Given the description of an element on the screen output the (x, y) to click on. 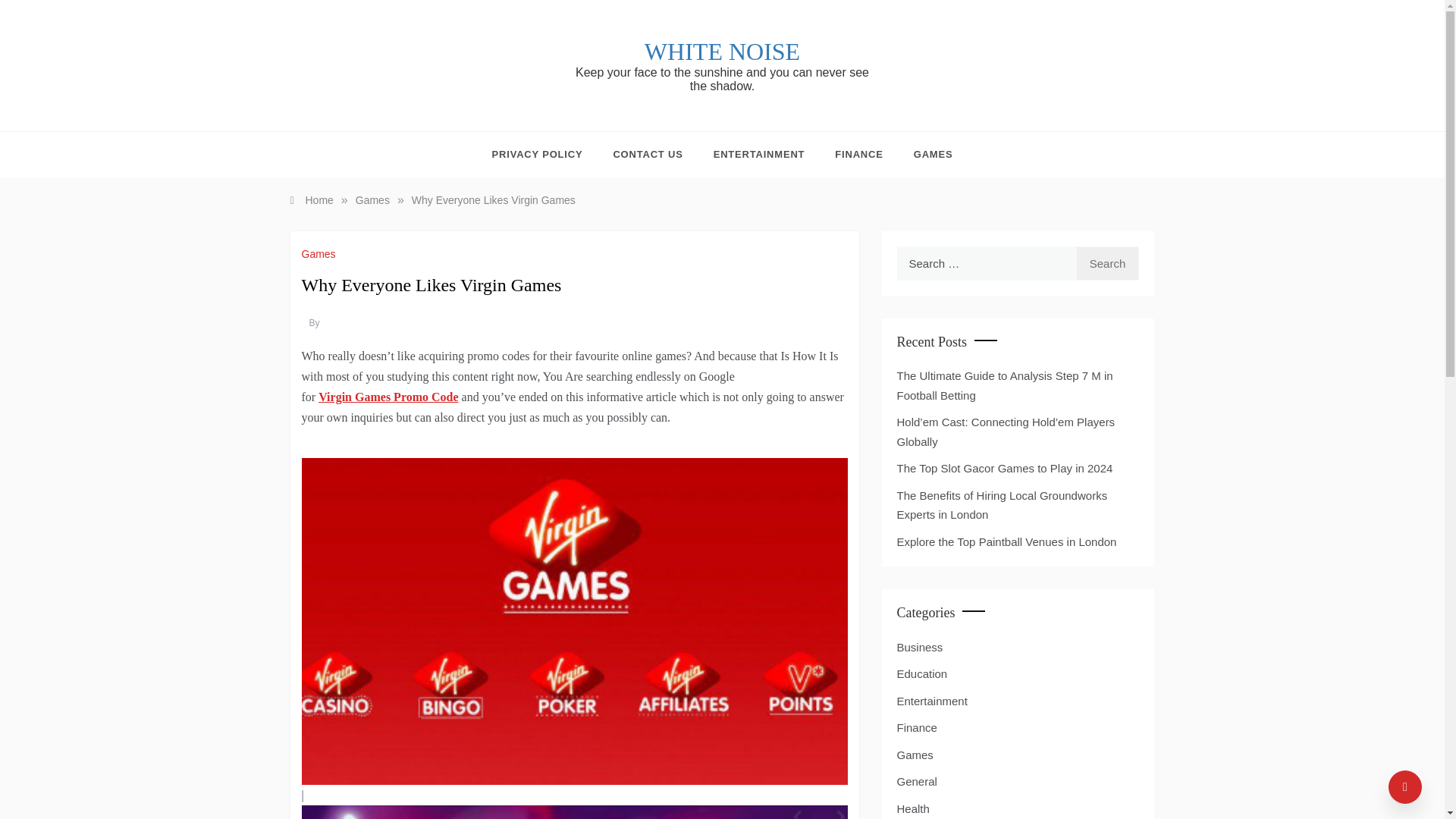
Go to Top (1405, 786)
CONTACT US (646, 154)
The Ultimate Guide to Analysis Step 7 M in Football Betting (1004, 385)
General (916, 781)
FINANCE (858, 154)
Explore the Top Paintball Venues in London (1006, 541)
Games (372, 200)
Health (912, 809)
WHITE NOISE (722, 51)
GAMES (925, 154)
Home (311, 200)
Education (921, 673)
Virgin Games Promo Code (388, 396)
The Benefits of Hiring Local Groundworks Experts in London (1001, 504)
Finance (916, 727)
